Given the description of an element on the screen output the (x, y) to click on. 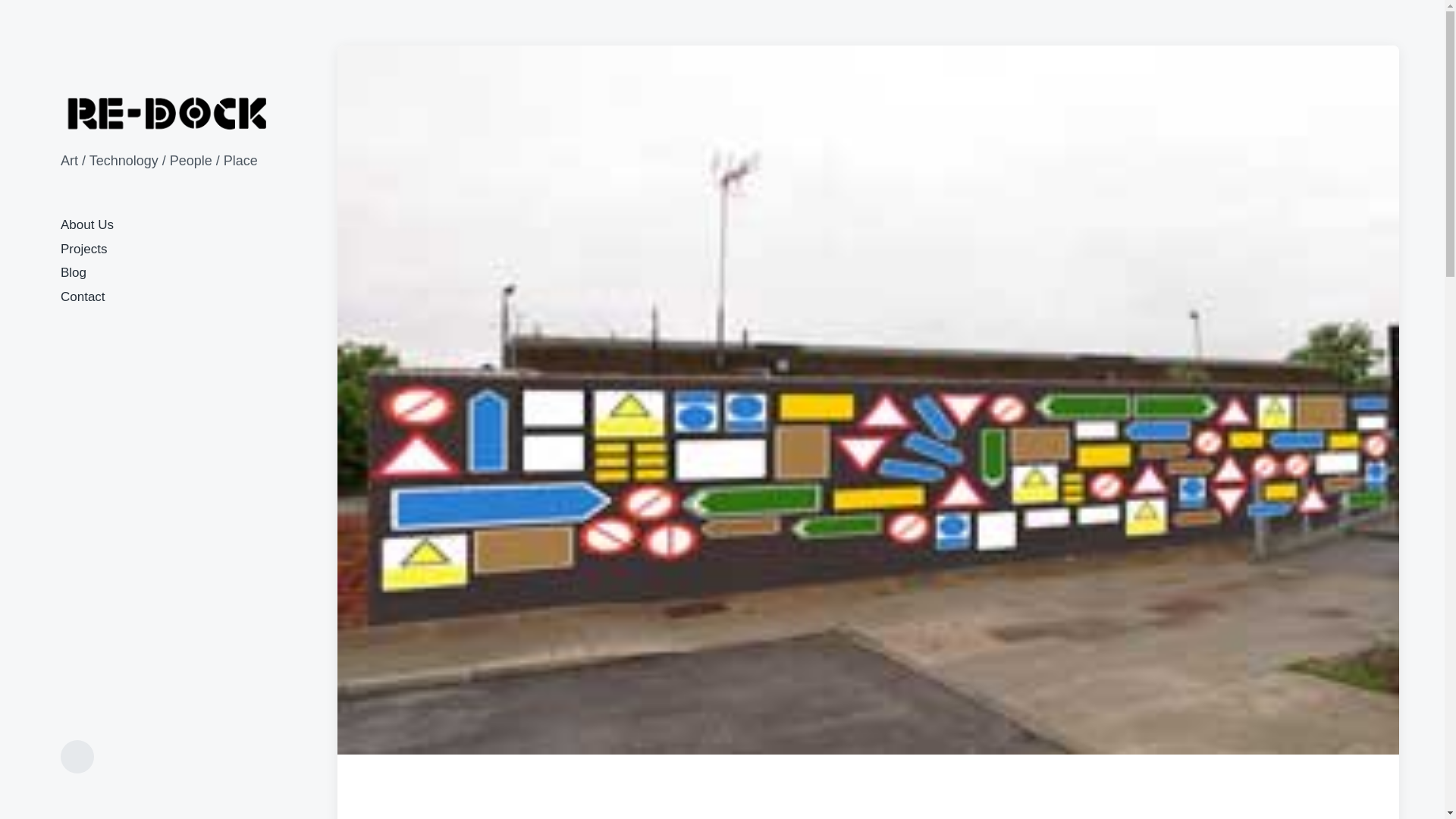
Blog (73, 272)
Toggle the search field (77, 756)
Re-Dock (168, 112)
About Us (87, 224)
Contact (82, 296)
Projects (83, 248)
